Given the description of an element on the screen output the (x, y) to click on. 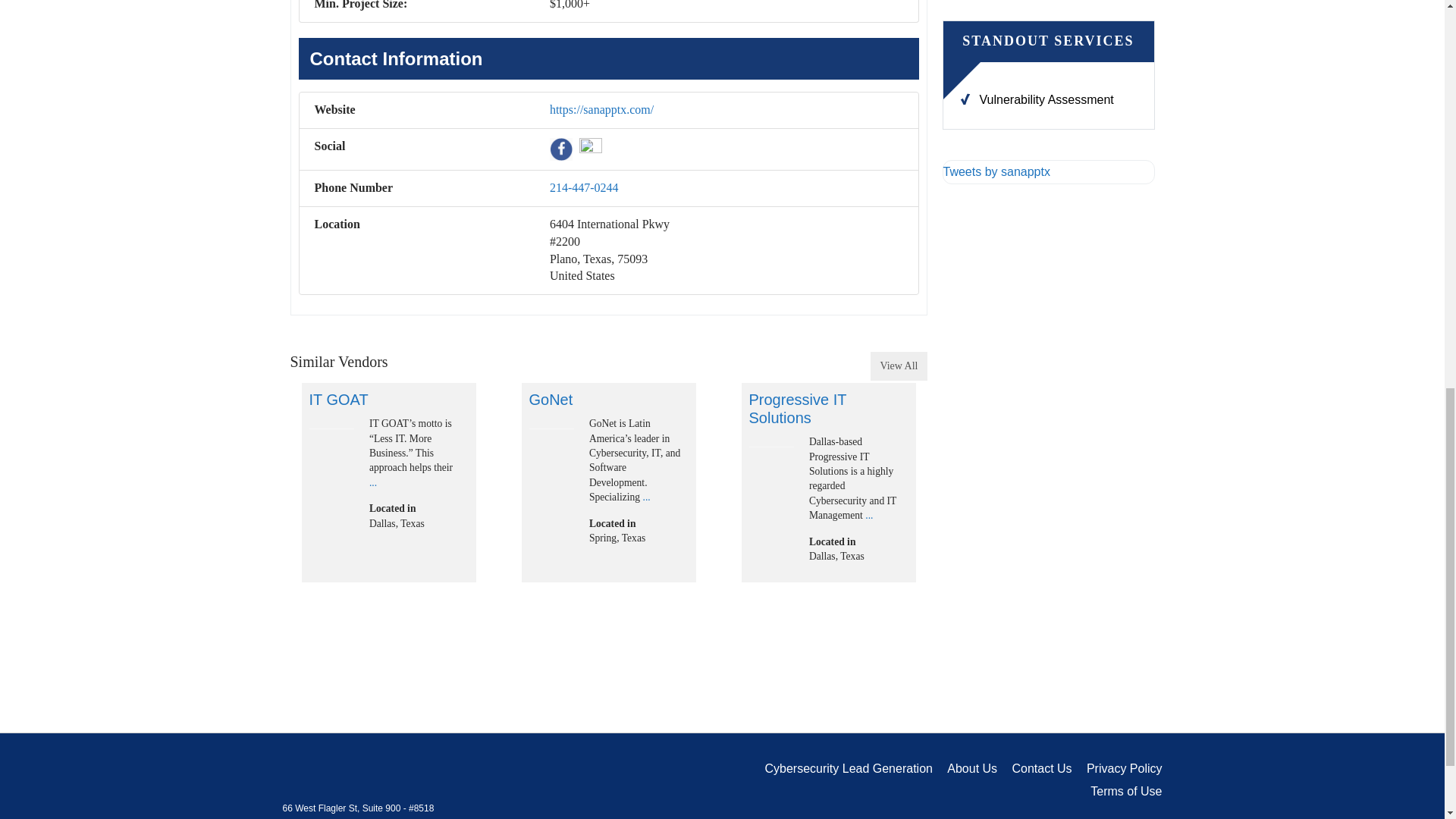
Progressive IT Solutions (771, 446)
IT GOAT (330, 428)
View: IT GOAT (338, 399)
View: GoNet (551, 399)
GoNet (551, 428)
View: Progressive IT Solutions (798, 408)
